Given the description of an element on the screen output the (x, y) to click on. 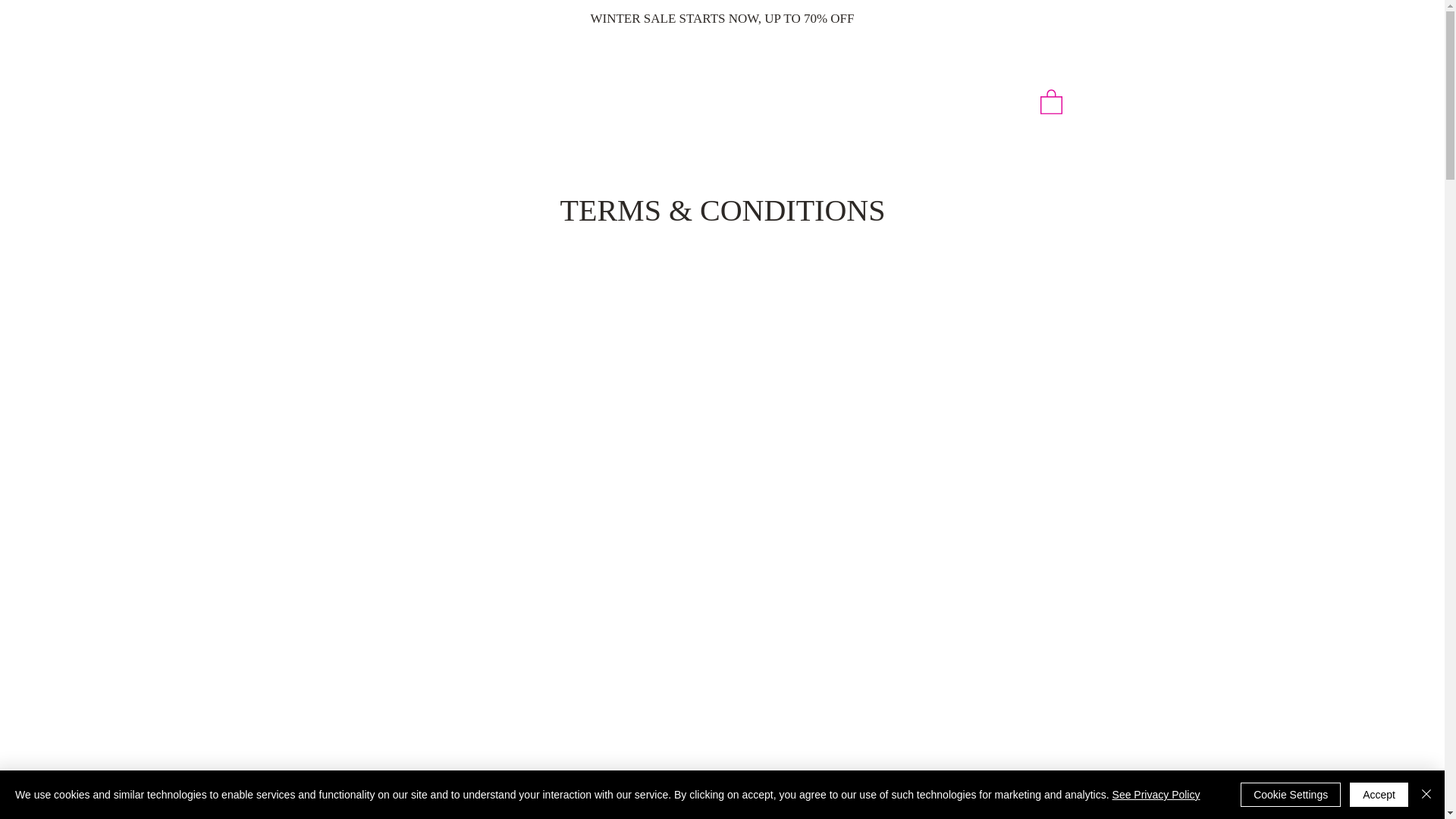
Cookie Settings (1290, 794)
See Privacy Policy (1155, 794)
Accept (1378, 794)
